Given the description of an element on the screen output the (x, y) to click on. 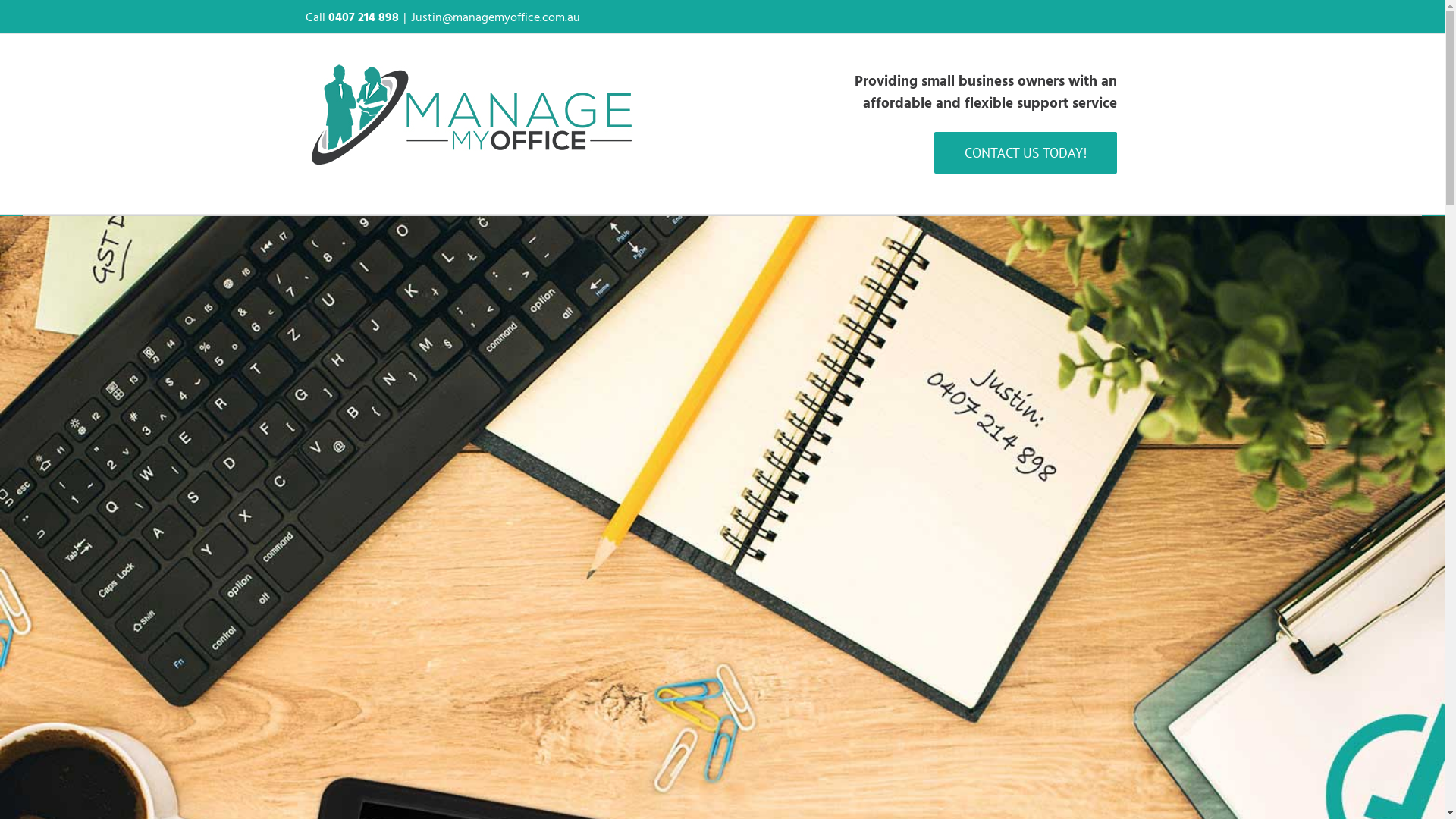
CONTACT US TODAY! Element type: text (1025, 152)
Justin@managemyoffice.com.au Element type: text (495, 16)
0407 214 898 Element type: text (362, 16)
